Given the description of an element on the screen output the (x, y) to click on. 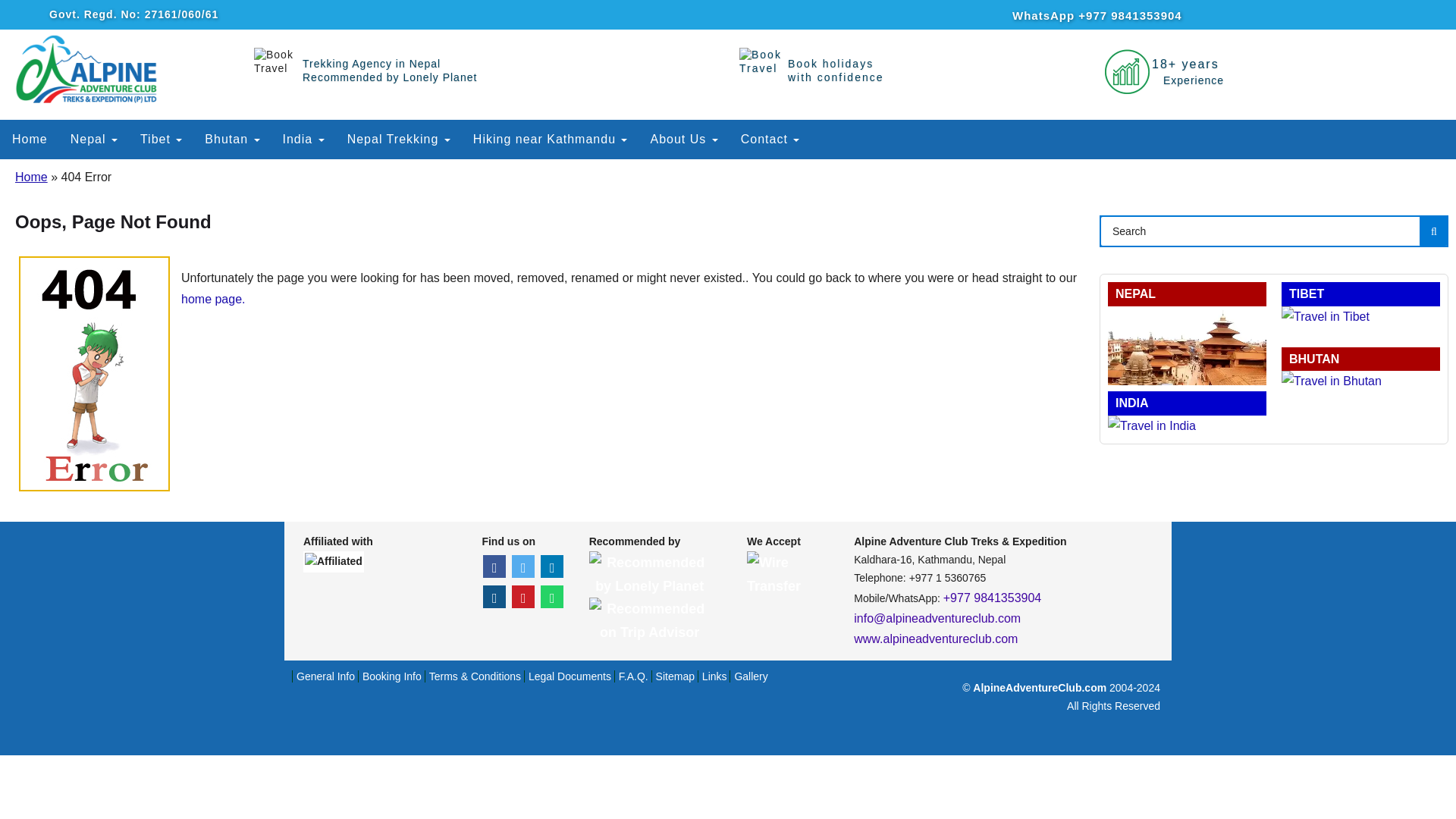
Bhutan (231, 139)
Instagram (494, 596)
WhatsApp (551, 596)
Best Trekking Agency in Nepal (31, 176)
Search (1273, 231)
Tibet (161, 139)
Pinterest (389, 70)
Home (523, 596)
Nepal Trekking (30, 139)
